Given the description of an element on the screen output the (x, y) to click on. 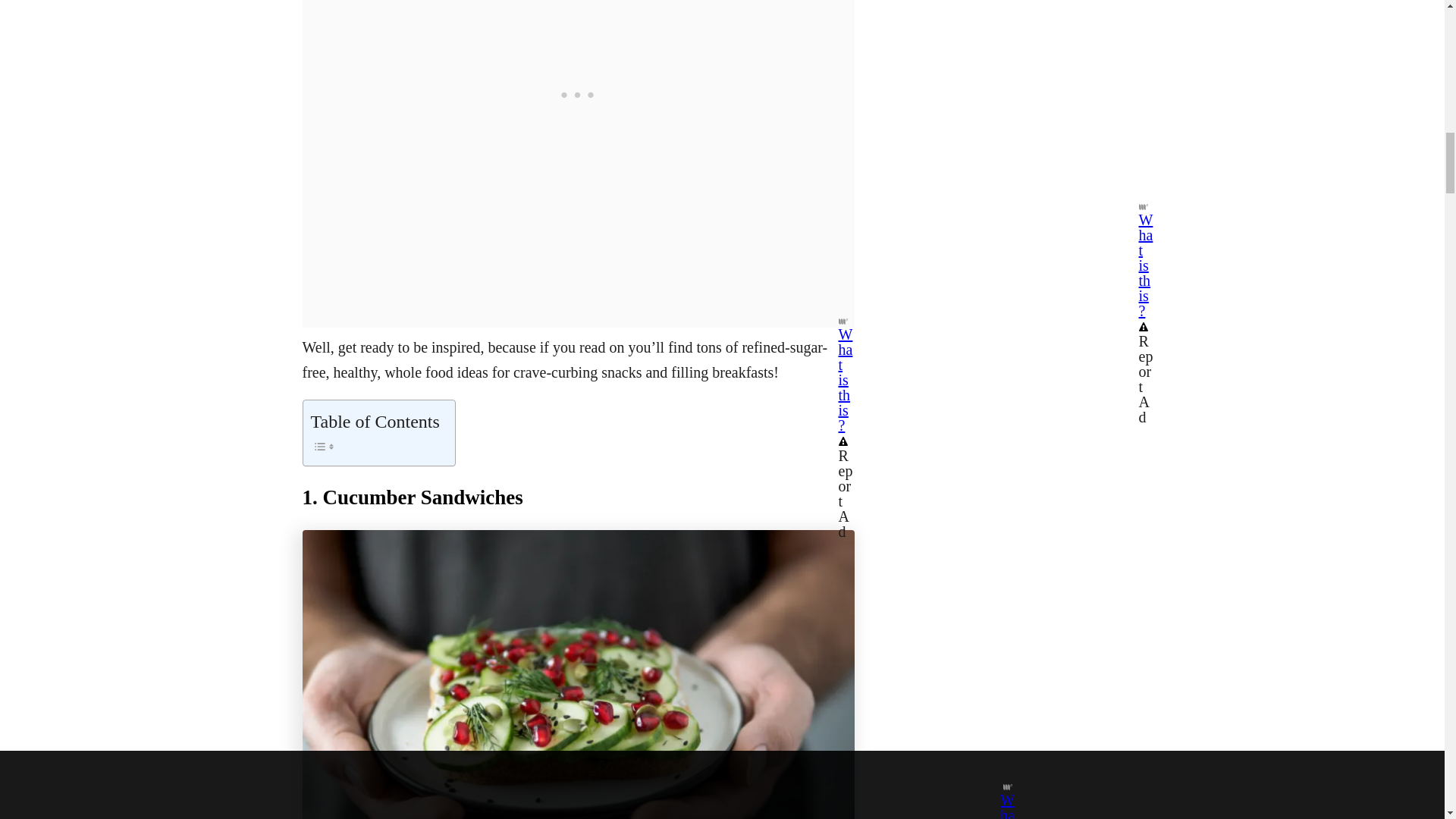
3rd party ad content (577, 91)
